Given the description of an element on the screen output the (x, y) to click on. 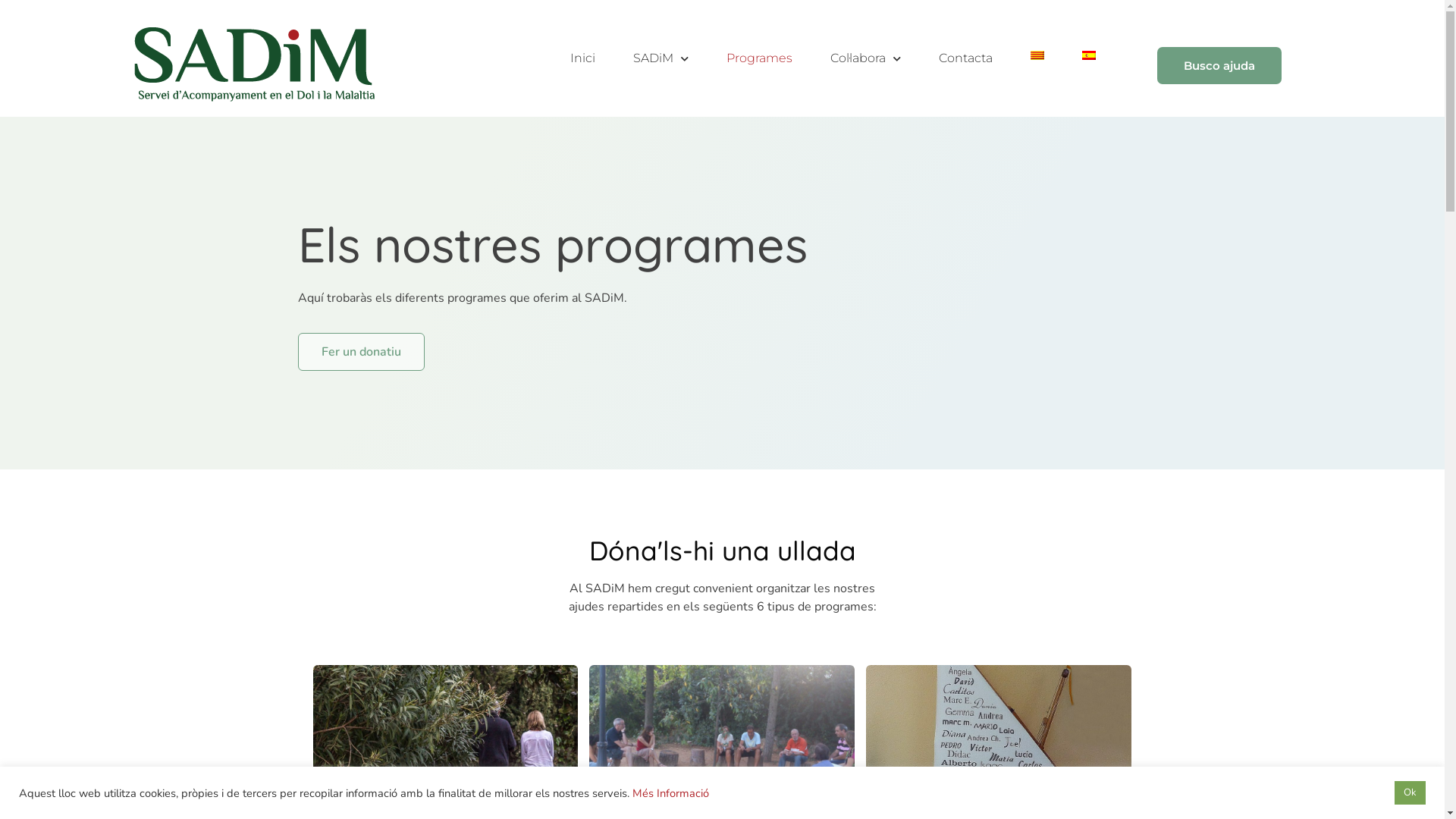
Ok Element type: text (1409, 792)
Fer un donatiu Element type: text (360, 351)
Contacta Element type: text (965, 57)
Inici Element type: text (582, 57)
Programes Element type: text (759, 57)
SADiM Element type: text (660, 57)
Busco ajuda Element type: text (1219, 65)
